Given the description of an element on the screen output the (x, y) to click on. 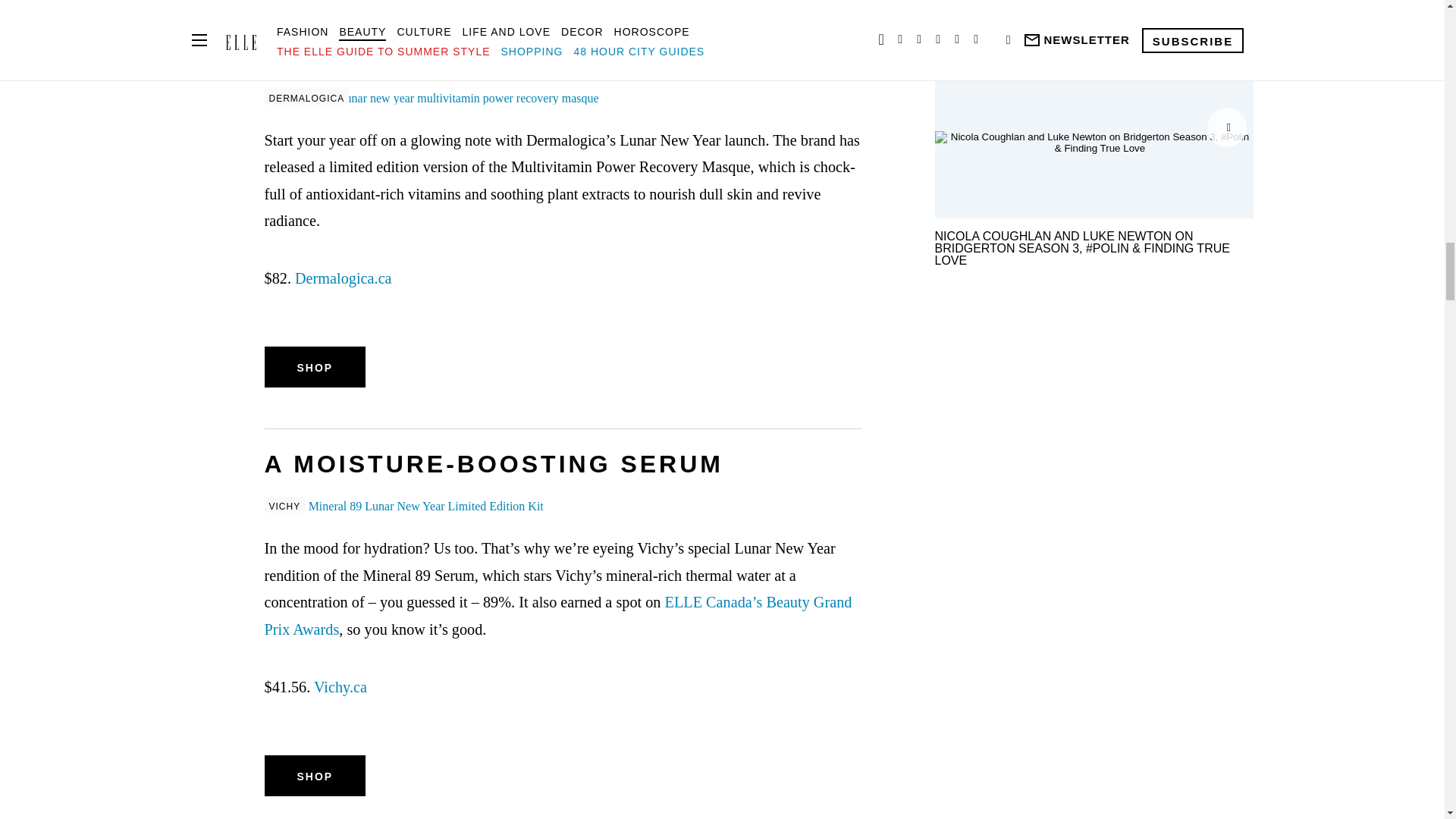
Vichy.ca (340, 686)
VICHY (562, 506)
DERMALOGICA (562, 98)
Dermalogica.ca (343, 278)
SHOP (314, 366)
